Given the description of an element on the screen output the (x, y) to click on. 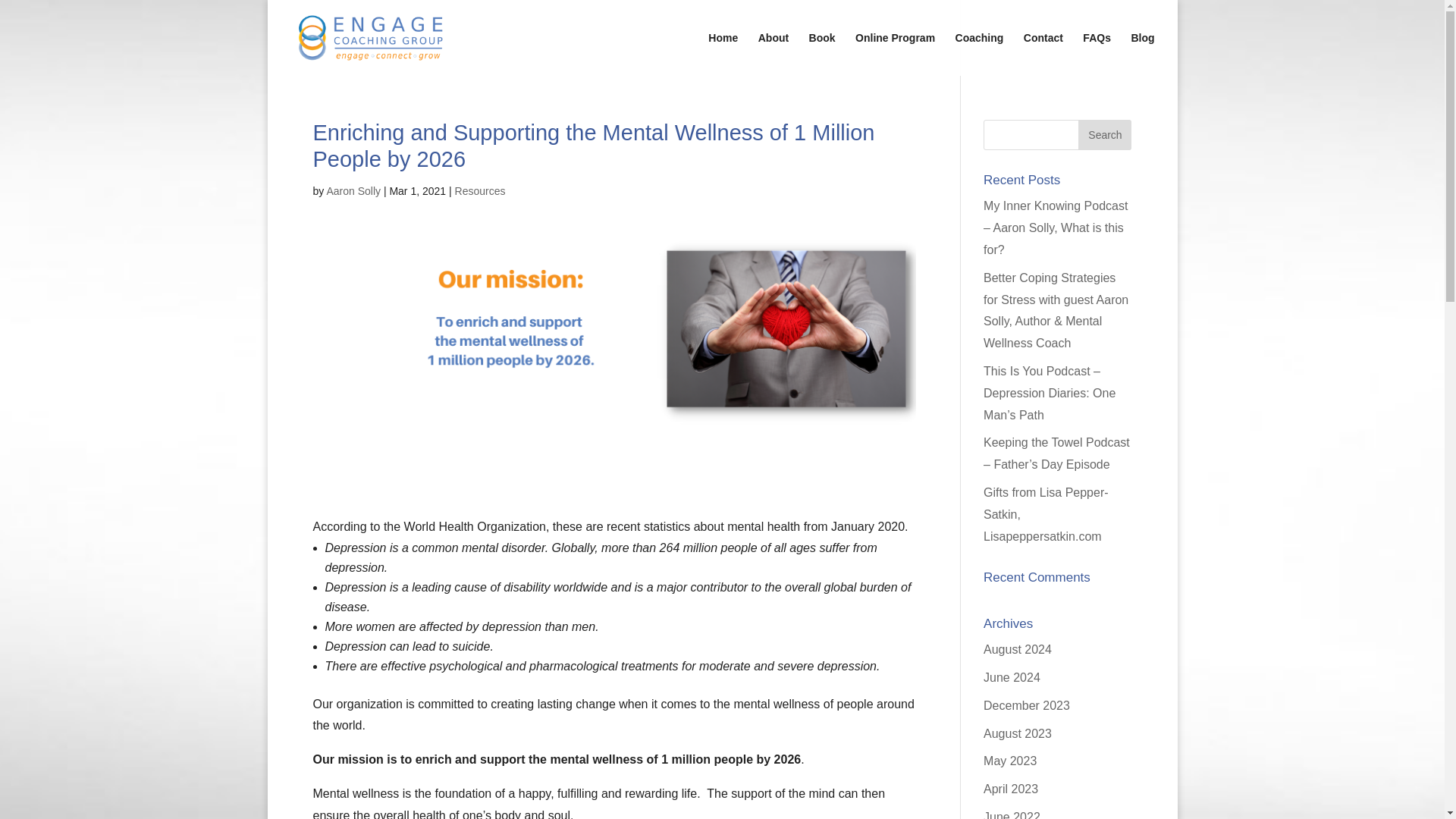
Resources (479, 191)
Contact (1042, 54)
August 2023 (1017, 733)
December 2023 (1027, 705)
Gifts from Lisa Pepper-Satkin, Lisapeppersatkin.com (1046, 514)
Search (1104, 134)
Coaching (979, 54)
Search (1104, 134)
June 2022 (1012, 814)
Aaron Solly (353, 191)
